Given the description of an element on the screen output the (x, y) to click on. 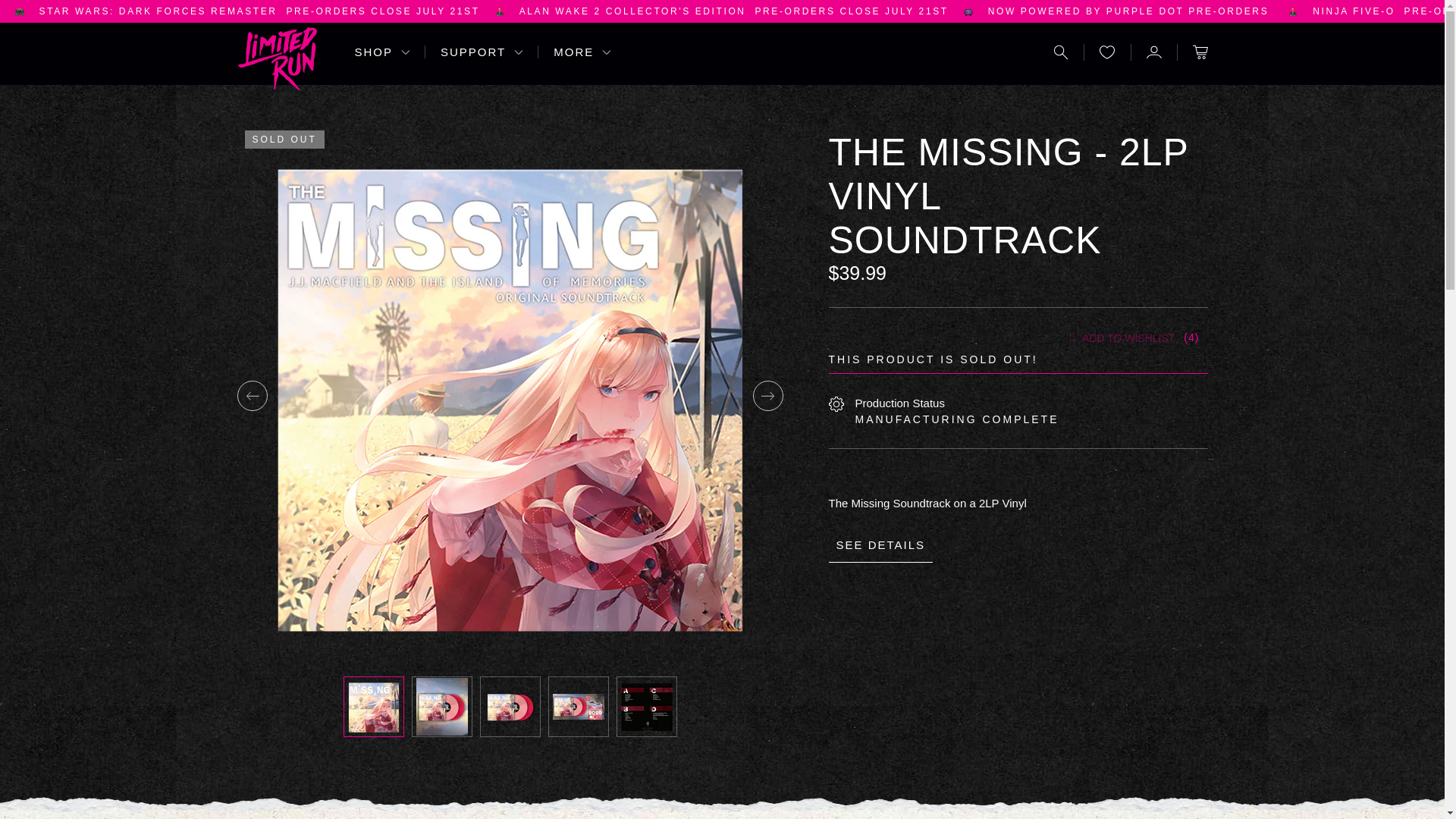
SHOP (1130, 10)
